Given the description of an element on the screen output the (x, y) to click on. 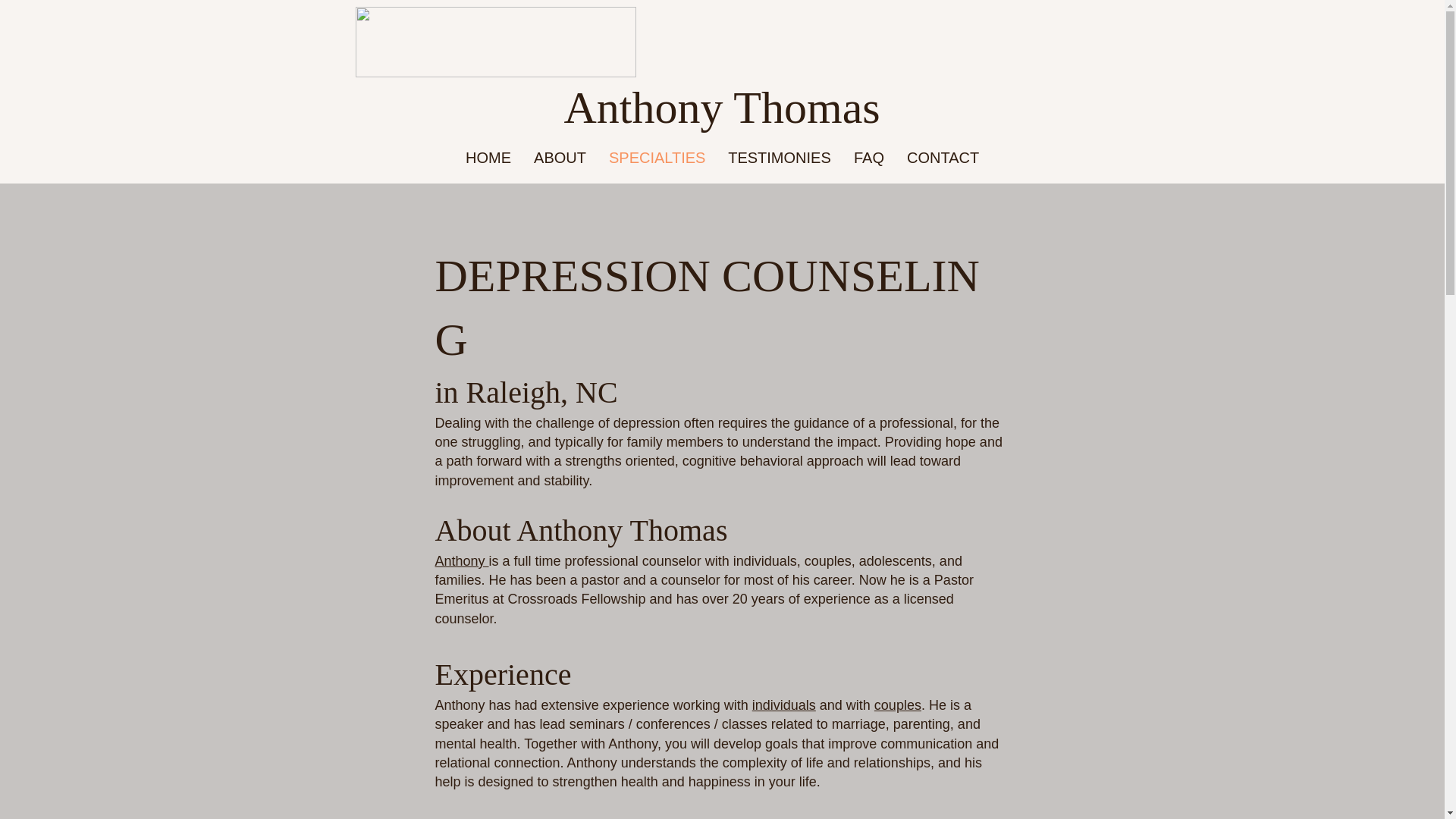
individuals (783, 704)
HOME (488, 157)
FAQ (869, 157)
SPECIALTIES (656, 157)
MM-Logo-color-two-lines-OL-438pq.png (494, 41)
couples (898, 704)
TESTIMONIES (779, 157)
Anthony (462, 560)
CONTACT (942, 157)
ABOUT (559, 157)
